Given the description of an element on the screen output the (x, y) to click on. 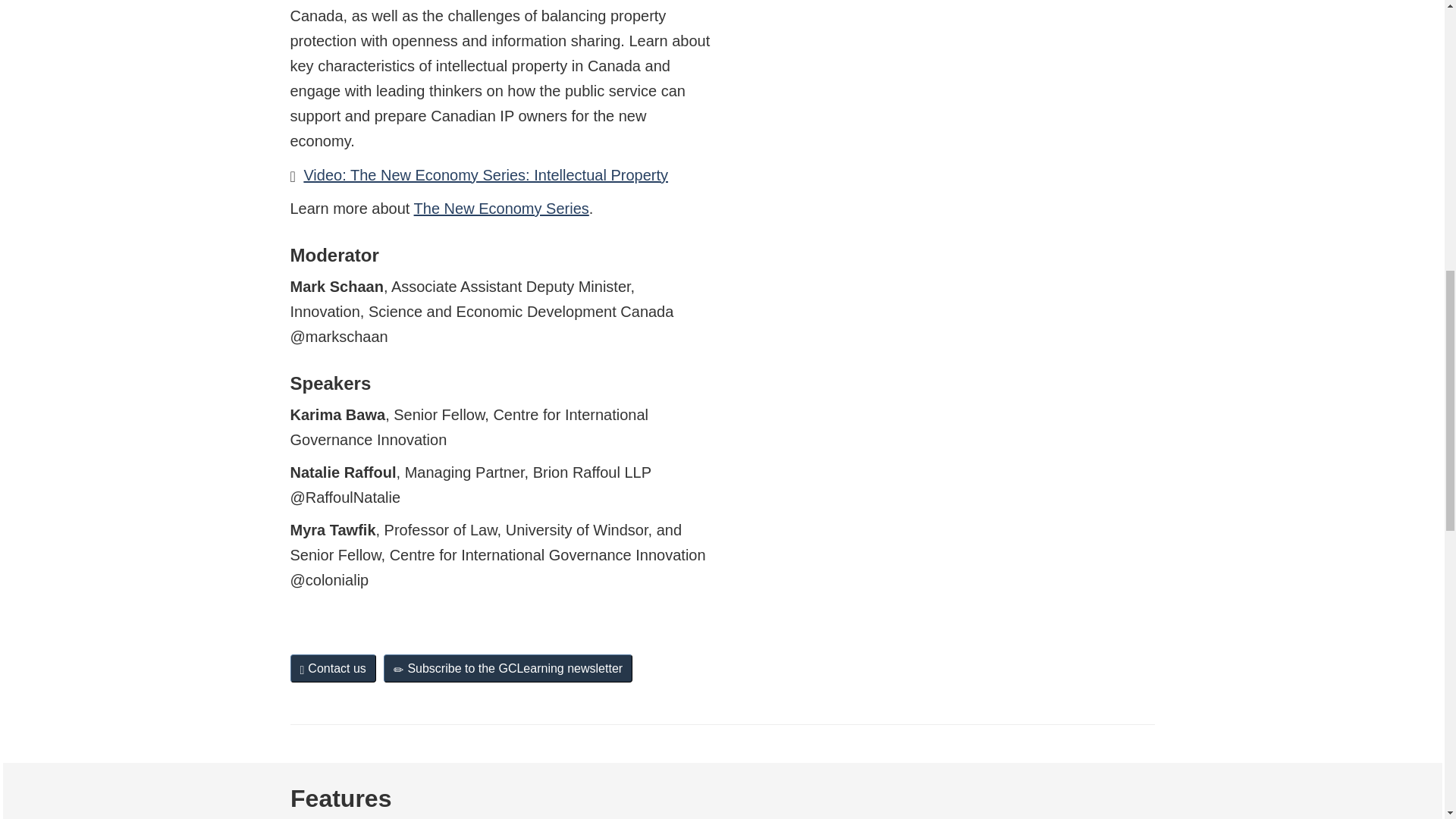
Contact us (332, 668)
Subscribe to the GCLearning newsletter (507, 668)
The New Economy Series (501, 208)
Video: The New Economy Series: Intellectual Property (485, 175)
